Given the description of an element on the screen output the (x, y) to click on. 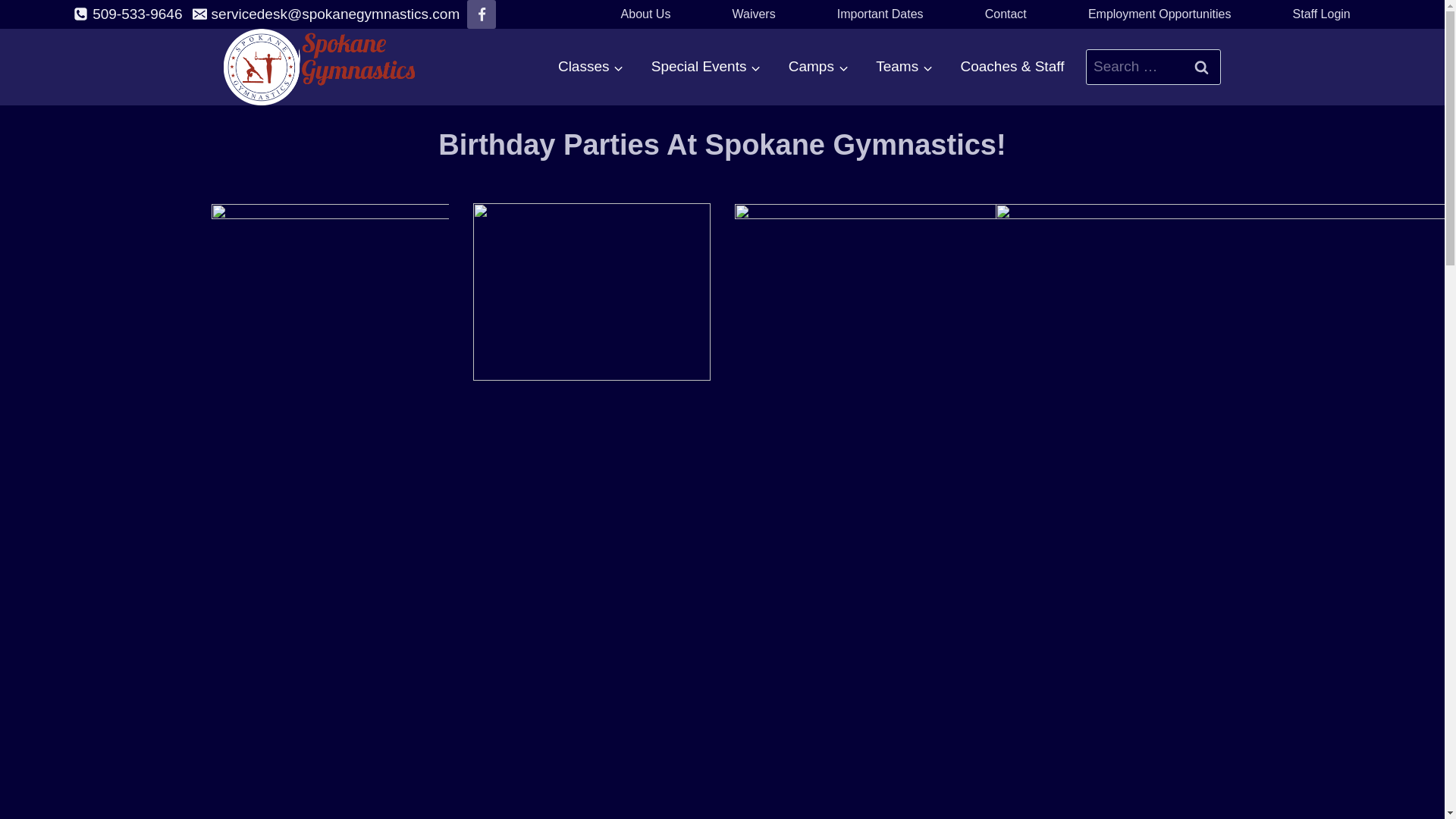
Teams (903, 66)
Important Dates (879, 13)
Staff Login (1321, 13)
Search (1201, 67)
Search (1201, 67)
Waivers (753, 13)
Employment Opportunities (1158, 13)
Contact (1004, 13)
Classes (590, 66)
Special Events (705, 66)
